Given the description of an element on the screen output the (x, y) to click on. 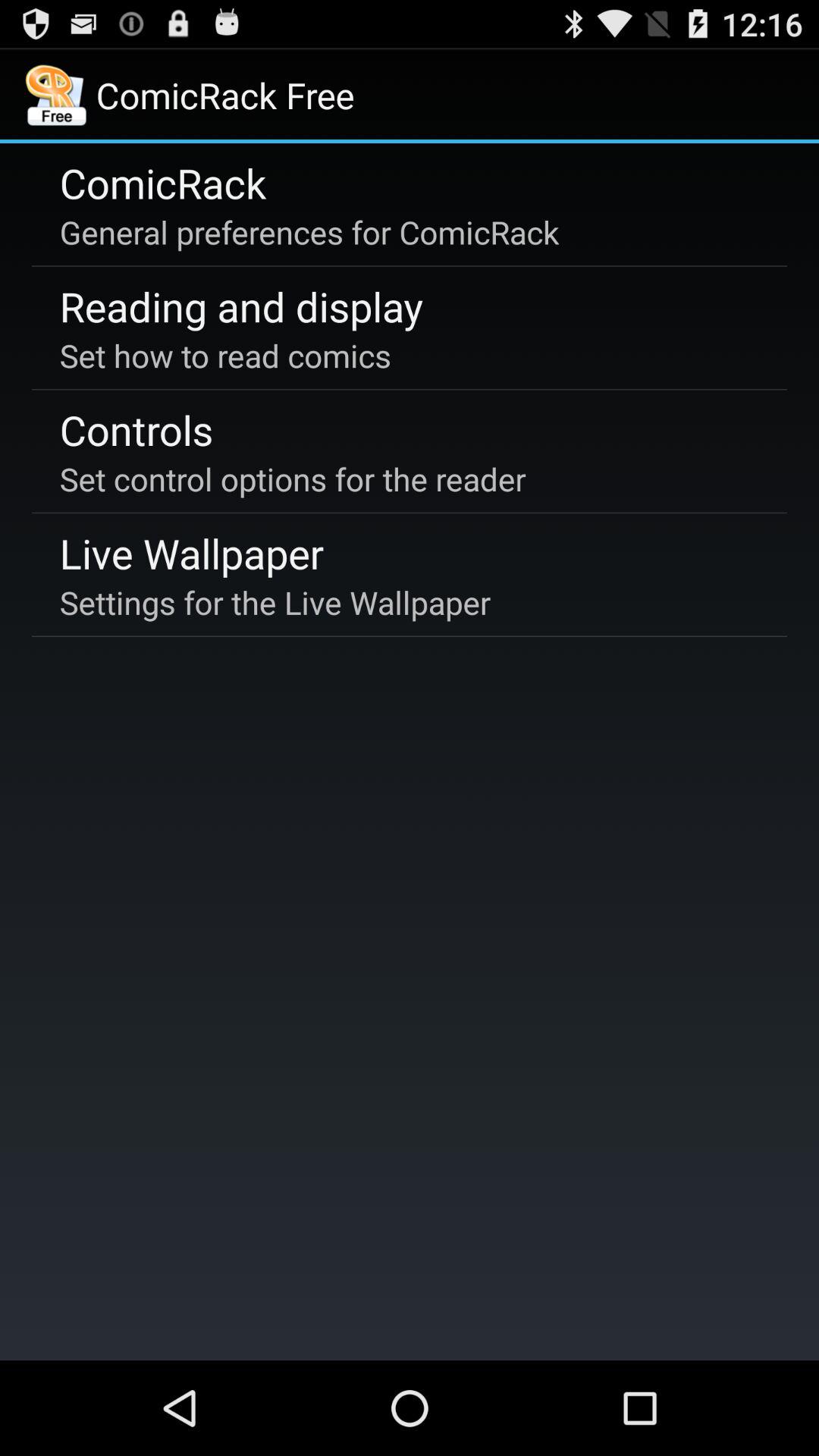
turn on the reading and display (241, 305)
